Given the description of an element on the screen output the (x, y) to click on. 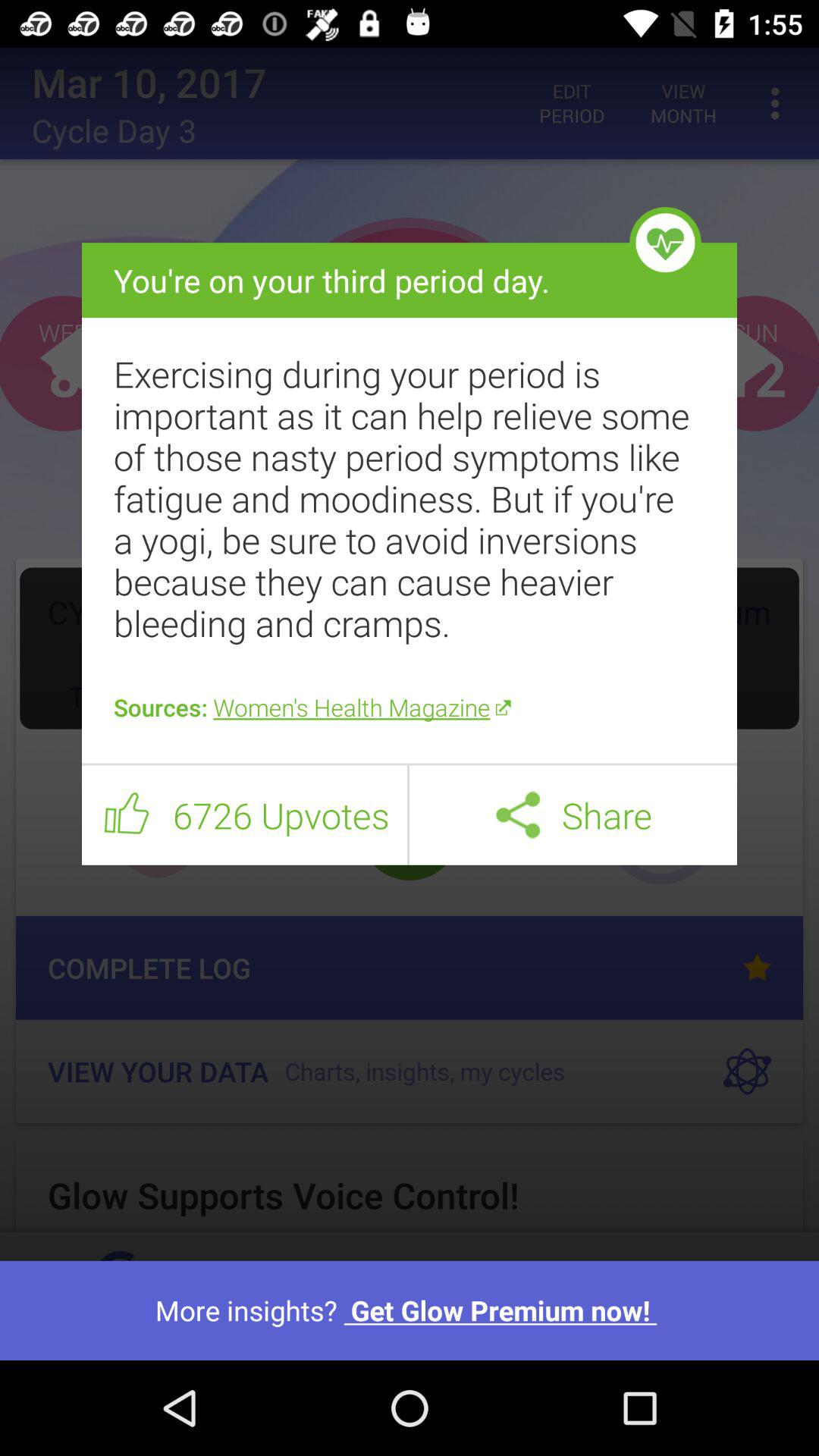
press the exercising during your (409, 498)
